Given the description of an element on the screen output the (x, y) to click on. 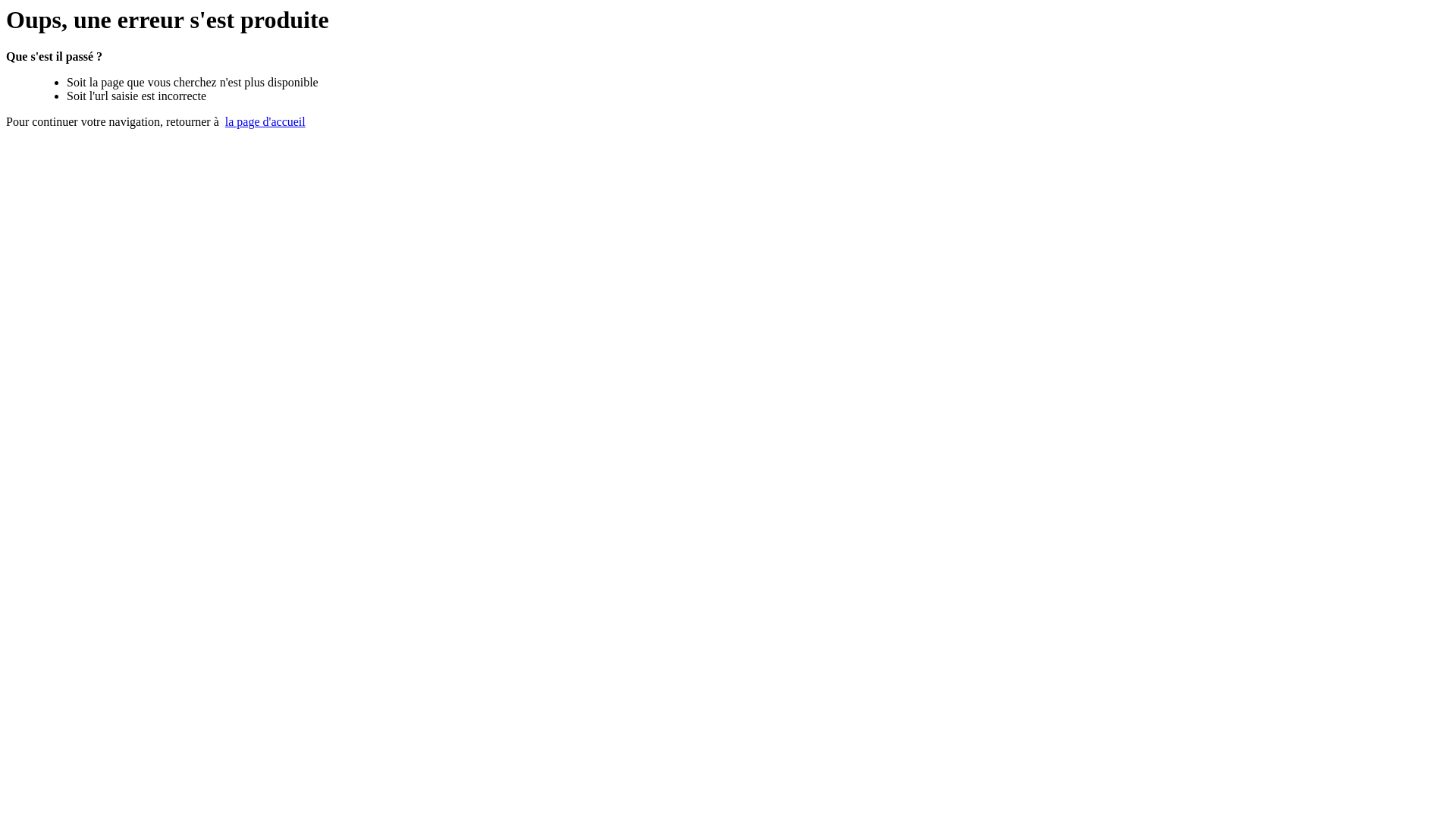
la page d'accueil Element type: text (265, 121)
